Given the description of an element on the screen output the (x, y) to click on. 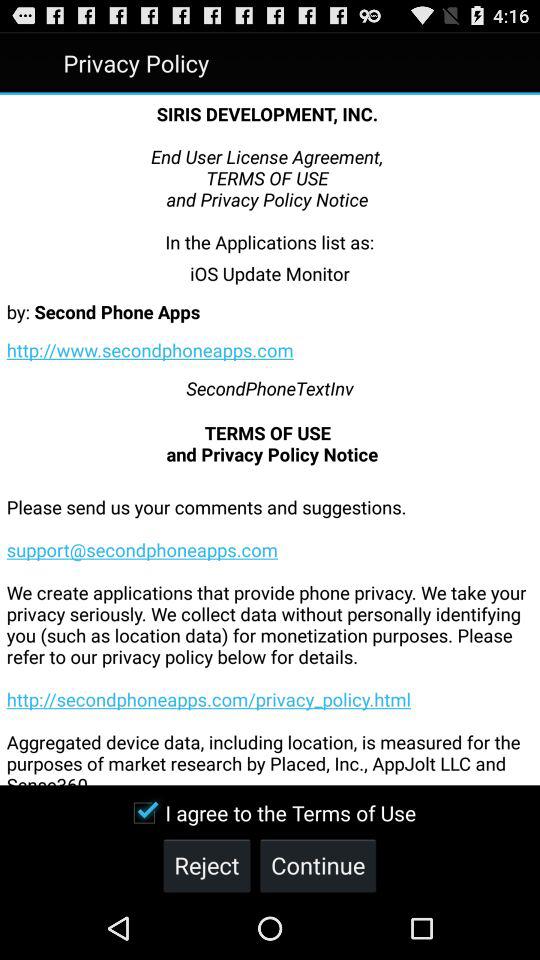
open the icon above the i agree to icon (270, 625)
